Given the description of an element on the screen output the (x, y) to click on. 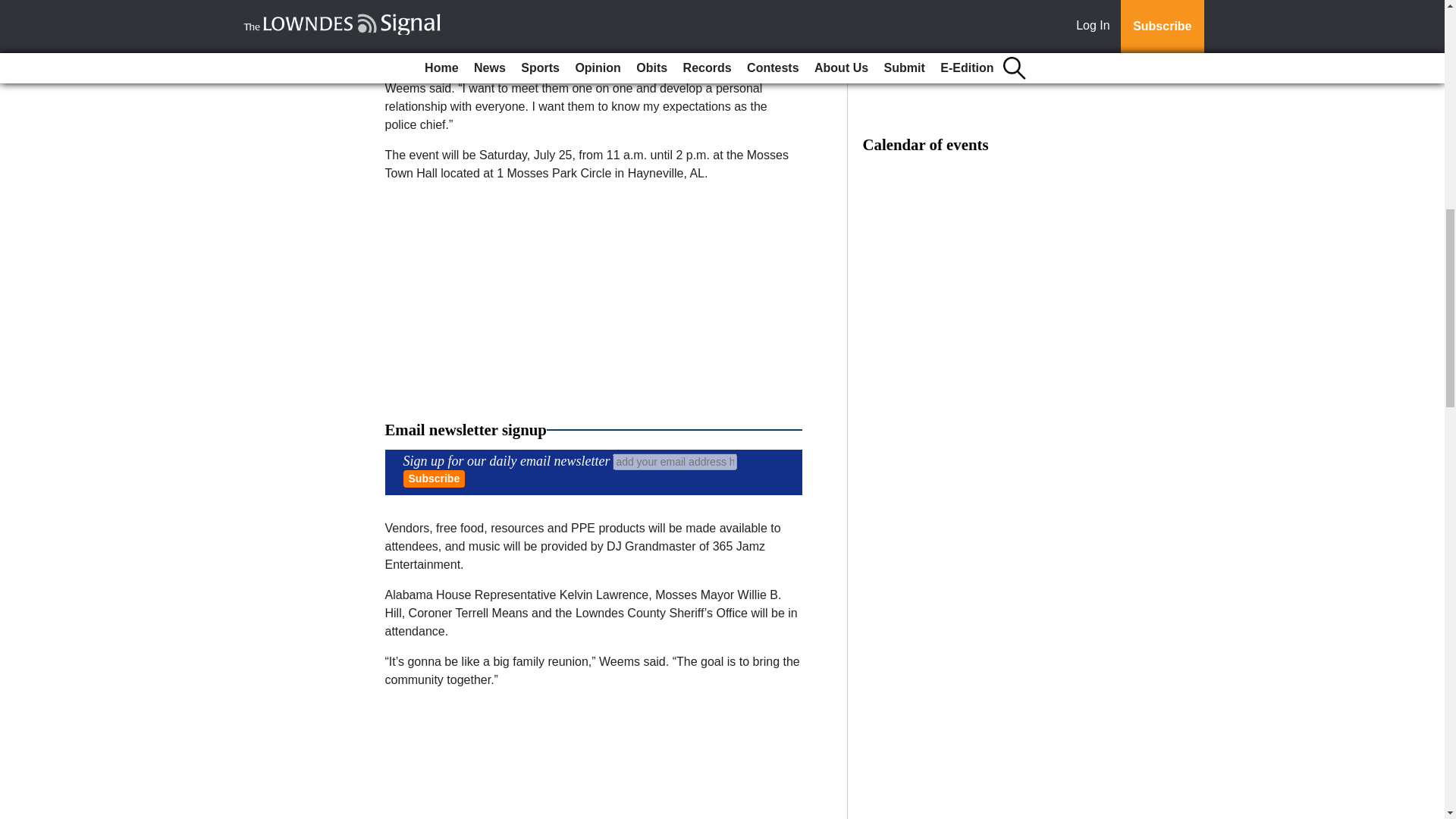
Subscribe (434, 478)
Subscribe (434, 478)
